Given the description of an element on the screen output the (x, y) to click on. 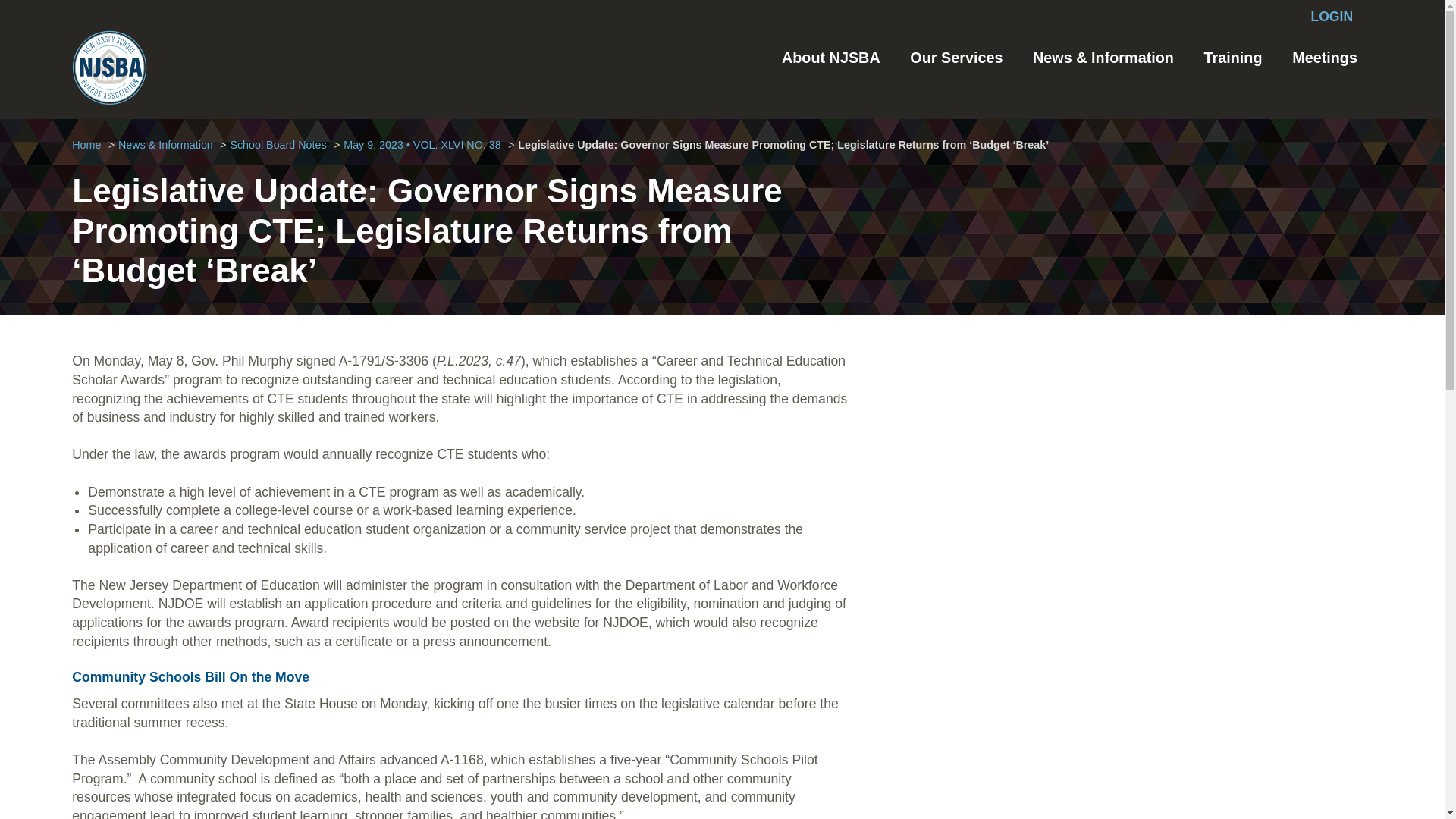
Our Services (956, 57)
LOGIN (1331, 17)
About NJSBA (831, 57)
